Given the description of an element on the screen output the (x, y) to click on. 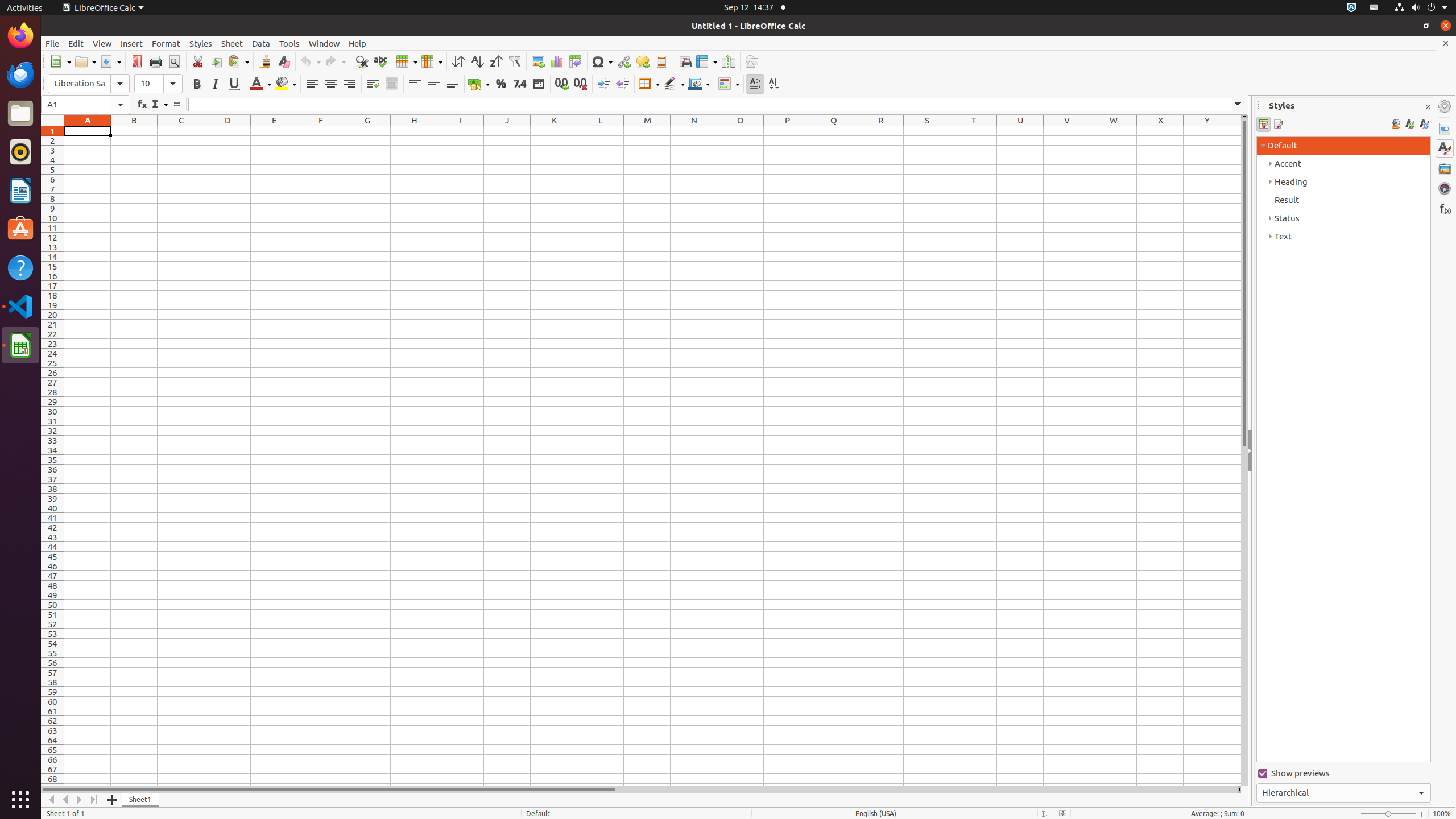
B1 Element type: table-cell (133, 130)
N1 Element type: table-cell (693, 130)
Window Element type: menu (324, 43)
T1 Element type: table-cell (973, 130)
Insert Element type: menu (131, 43)
